Given the description of an element on the screen output the (x, y) to click on. 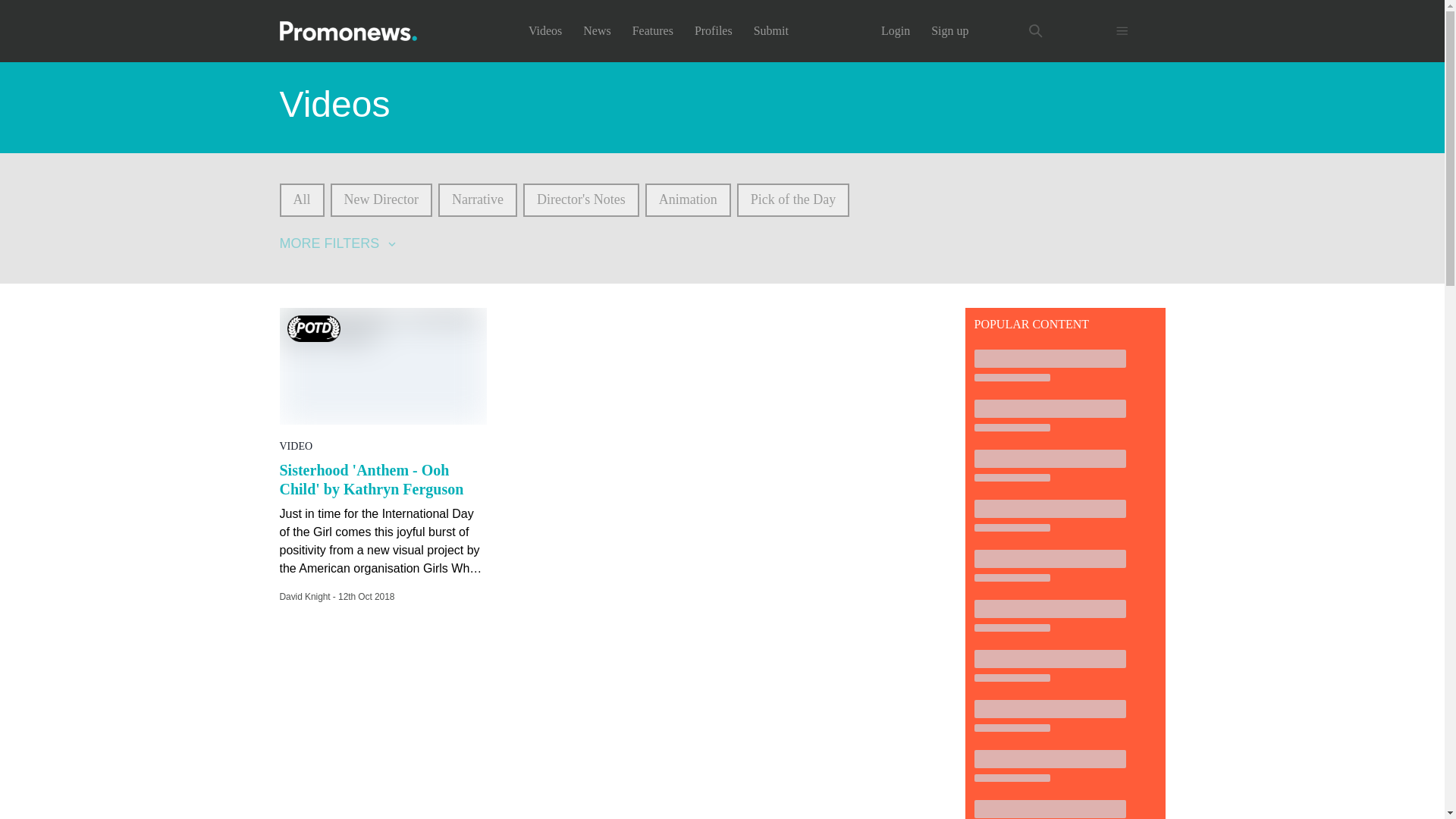
Videos (545, 31)
Login (895, 31)
News (596, 31)
Sign up (949, 31)
Profiles (713, 31)
Features (651, 31)
Submit (771, 31)
